Given the description of an element on the screen output the (x, y) to click on. 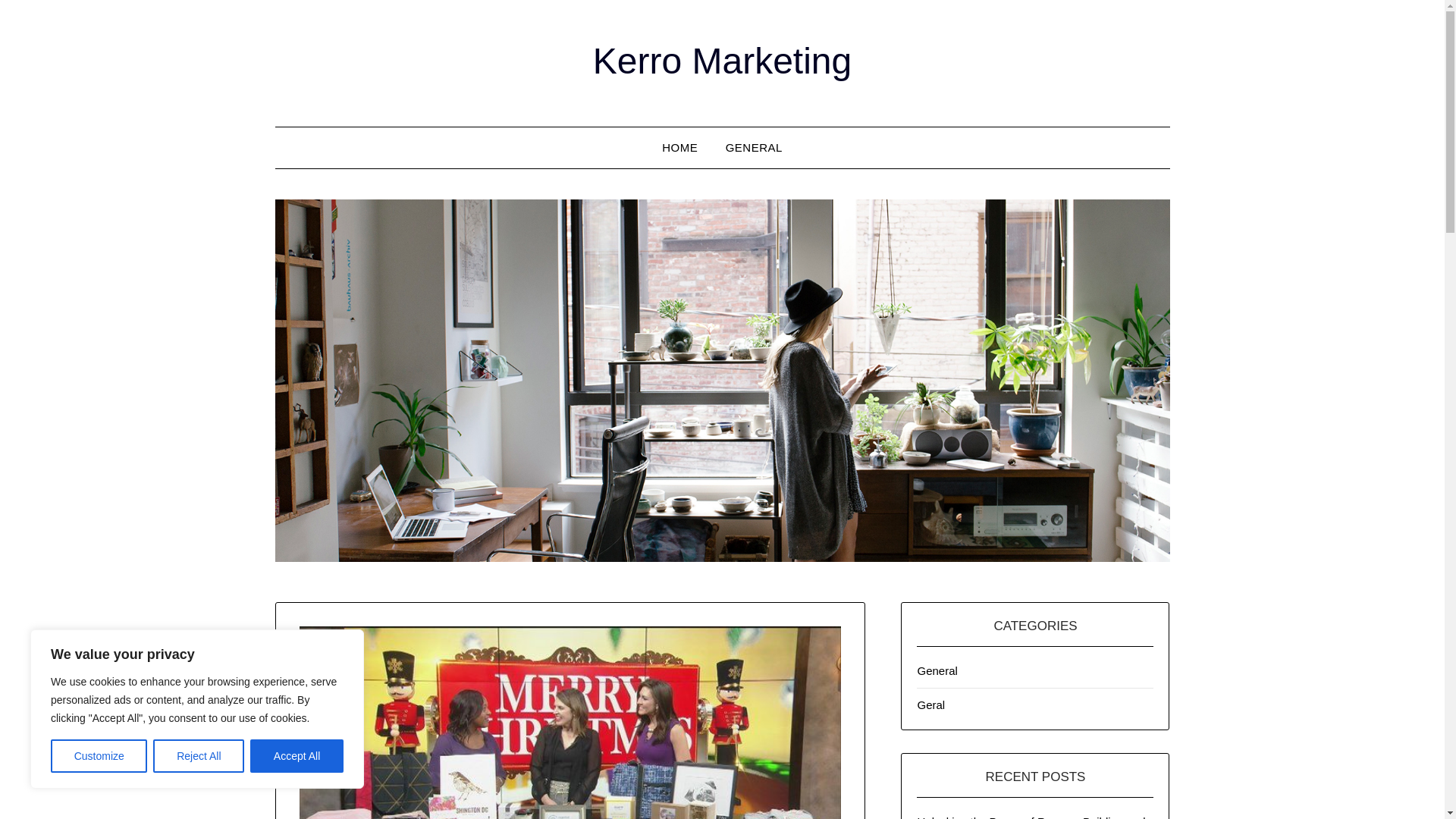
Accept All (296, 756)
HOME (679, 147)
Kerro Marketing (721, 60)
Customize (98, 756)
Unlocking the Power of Resume Building and Optimization (1030, 816)
Reject All (198, 756)
GENERAL (753, 147)
Geral (930, 704)
General (936, 670)
